Given the description of an element on the screen output the (x, y) to click on. 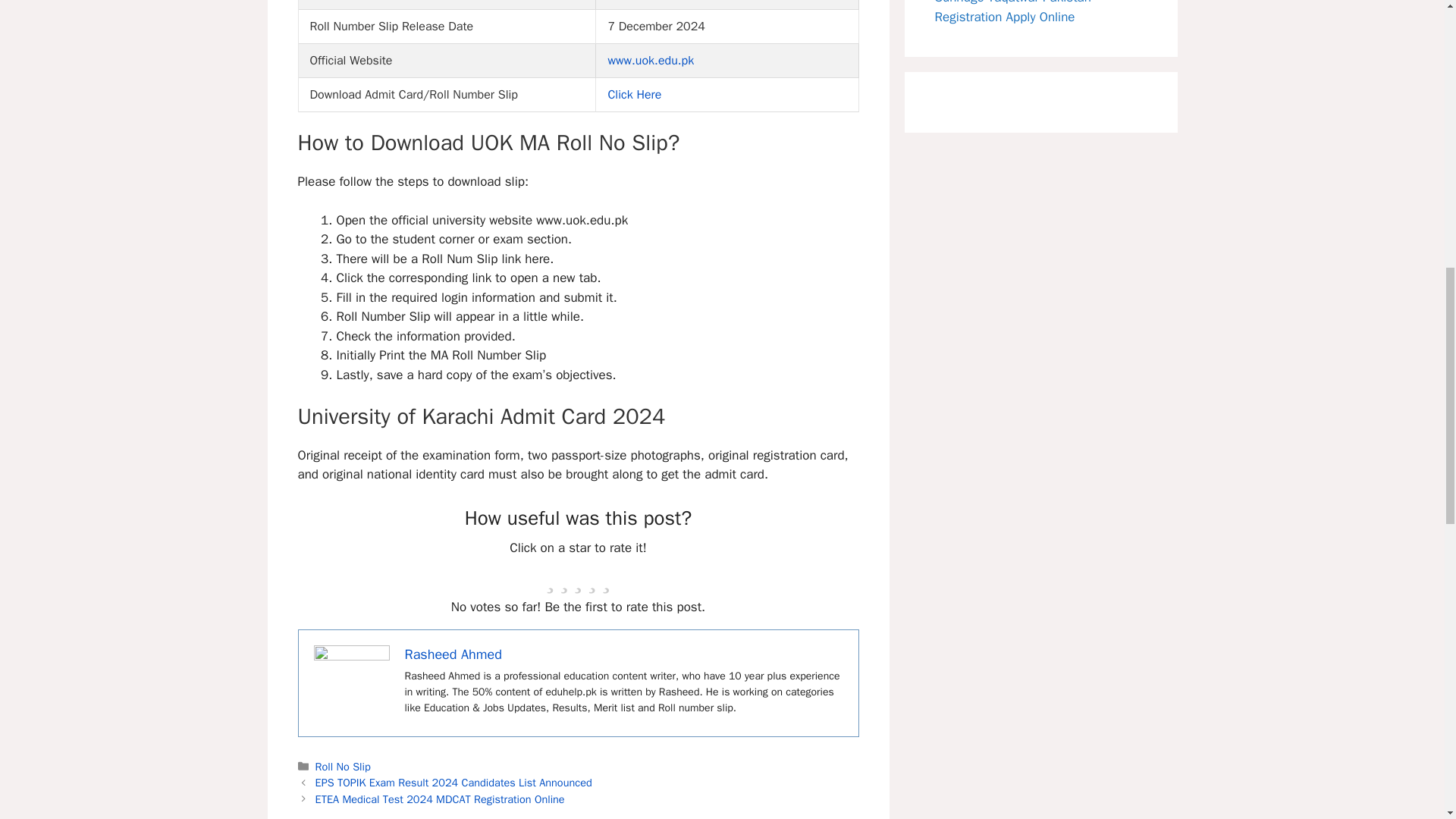
Click Here (634, 94)
www.uok.edu.pk (650, 60)
Roll No Slip (343, 766)
EPS TOPIK Exam Result 2024 Candidates List Announced (453, 782)
Rasheed Ahmed (453, 654)
ETEA Medical Test 2024 MDCAT Registration Online (439, 798)
